Given the description of an element on the screen output the (x, y) to click on. 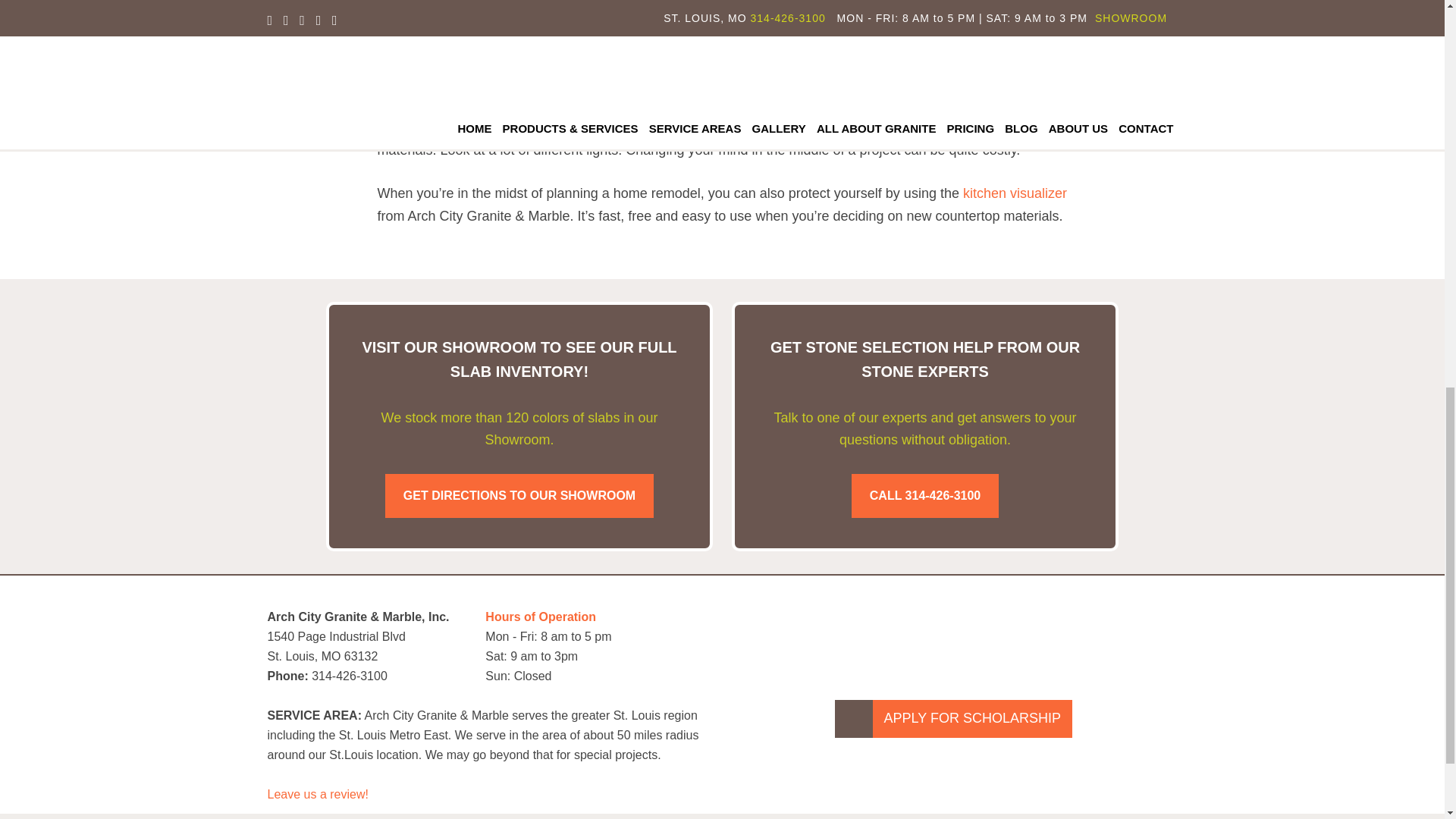
Marble Institute of America (786, 622)
ofallon mo chamber of commerce (897, 622)
Chesterfield MO Chamber of Commerce (1120, 622)
Better Business Bureau (1009, 618)
